Given the description of an element on the screen output the (x, y) to click on. 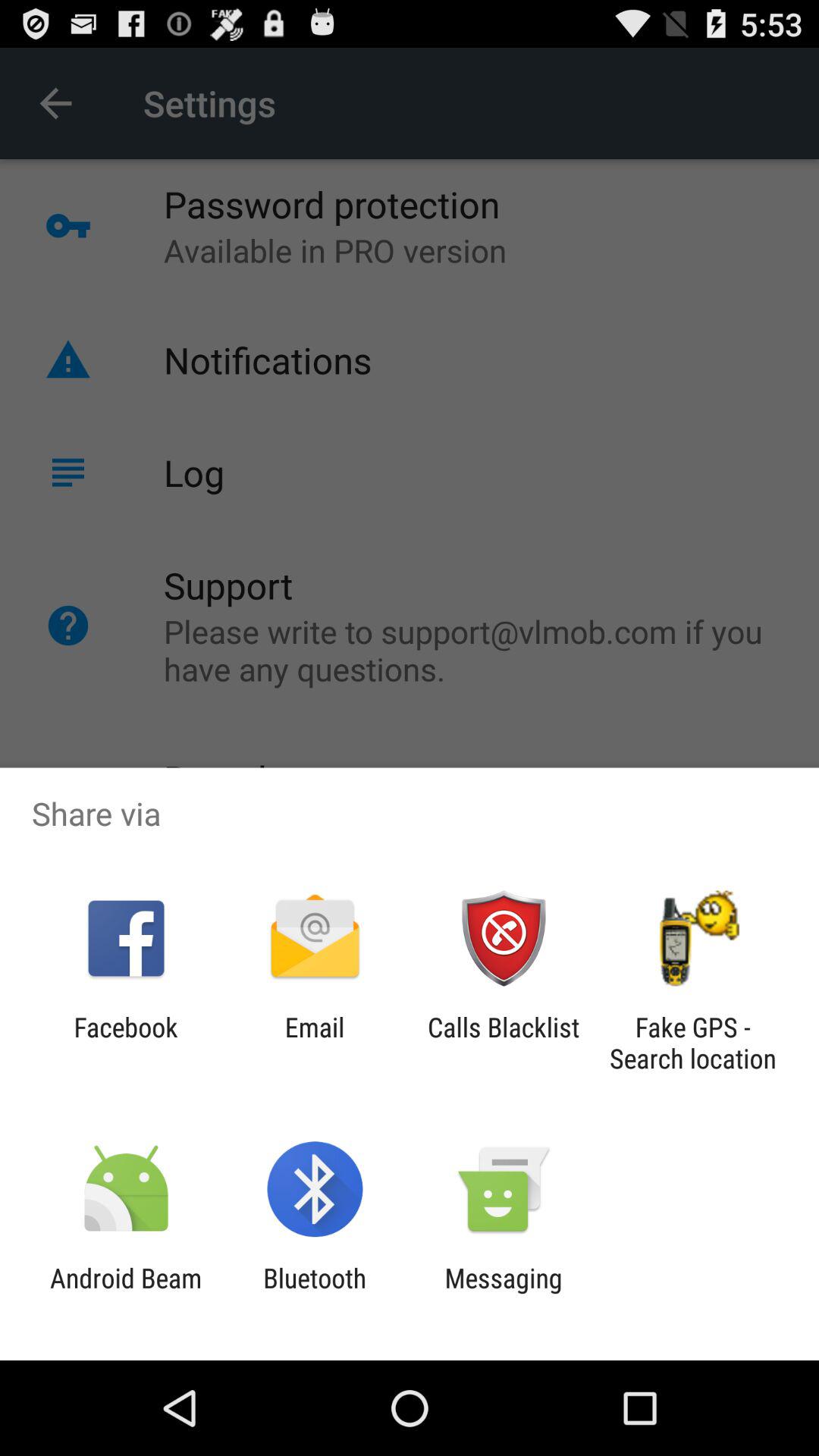
tap app next to the calls blacklist item (692, 1042)
